Given the description of an element on the screen output the (x, y) to click on. 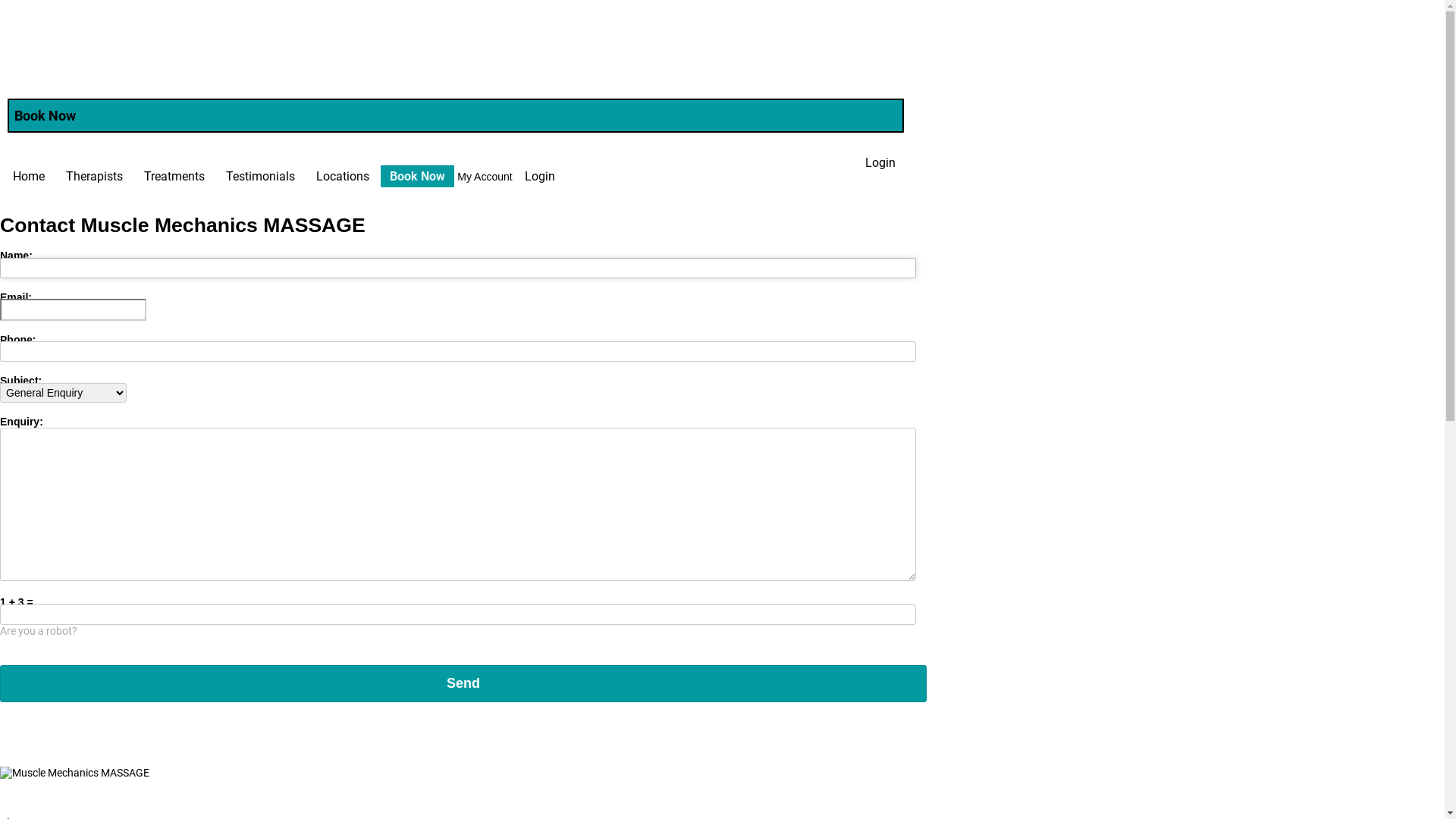
Send Element type: text (463, 682)
Treatments Element type: text (173, 176)
Home Element type: text (28, 176)
Login Element type: text (880, 162)
Therapists Element type: text (93, 176)
Book Now Element type: text (455, 115)
Locations Element type: text (342, 176)
Testimonials Element type: text (260, 176)
Login Element type: text (539, 176)
Book Now Element type: text (417, 176)
